Given the description of an element on the screen output the (x, y) to click on. 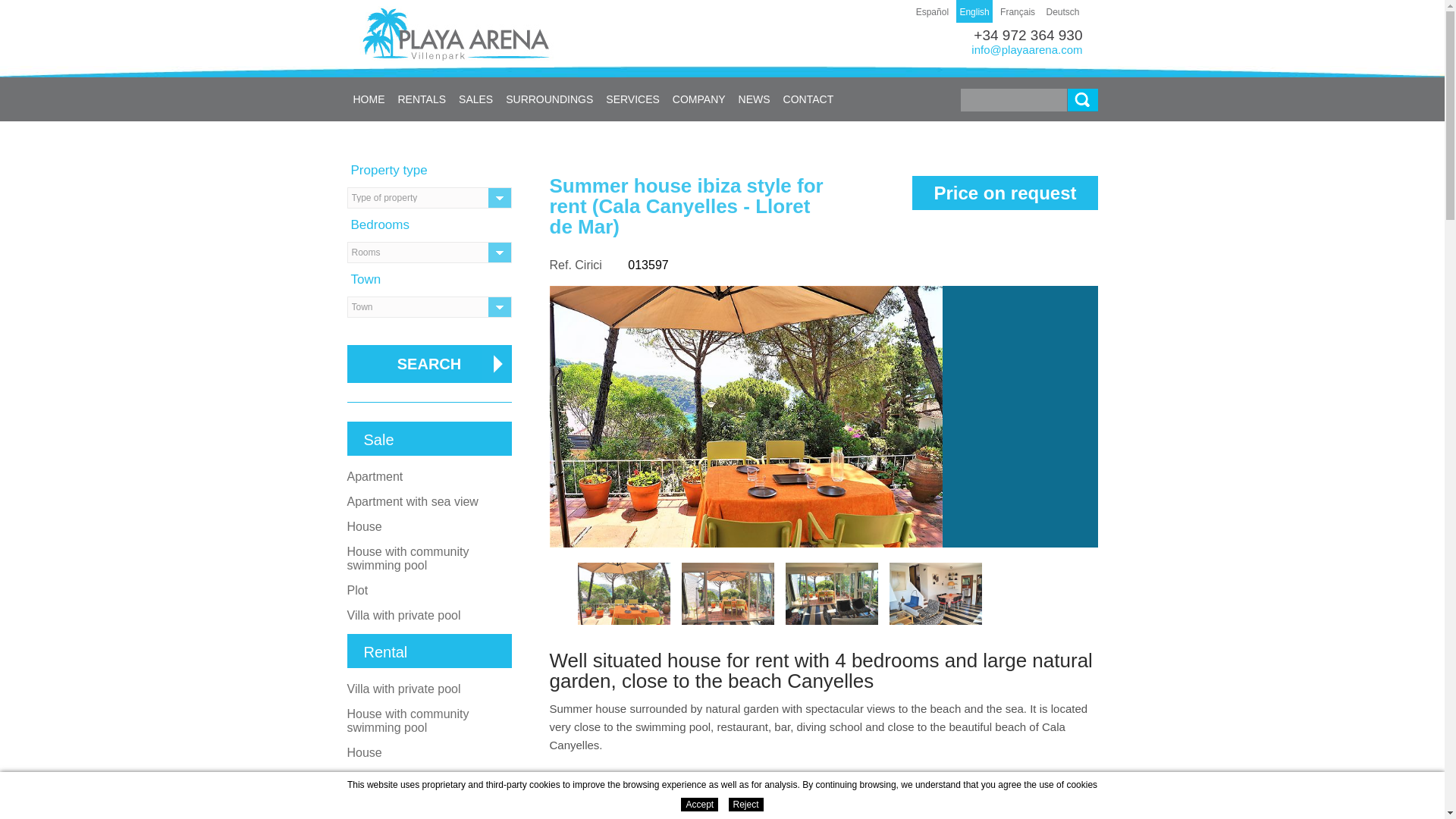
Home (369, 98)
Search (429, 363)
House (364, 752)
Apartment with sea view (413, 777)
SALES (475, 98)
Apartment with sea view (413, 501)
Apartment (375, 802)
Surroundings (549, 98)
News (754, 98)
House with community swimming pool (407, 558)
RENTALS (421, 98)
Search (1082, 99)
Company (699, 98)
House (364, 526)
Deutsch (1061, 11)
